Given the description of an element on the screen output the (x, y) to click on. 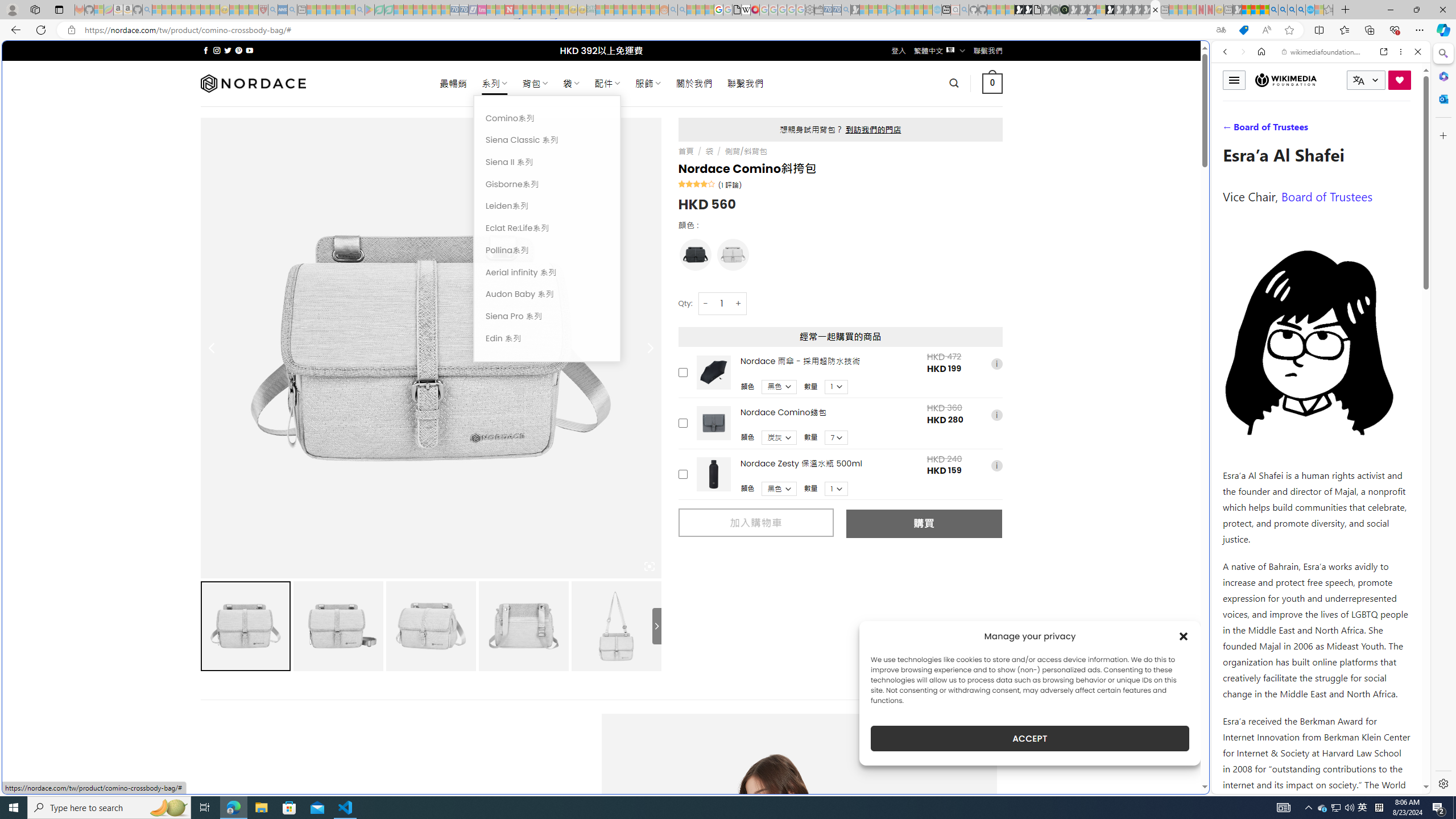
Bing Real Estate - Home sales and rental listings - Sleeping (846, 9)
Play Zoo Boom in your browser | Games from Microsoft Start (1027, 9)
Bing AI - Search (1272, 9)
Home | Sky Blue Bikes - Sky Blue Bikes - Sleeping (936, 9)
Terms of Use Agreement - Sleeping (378, 9)
Follow on Pinterest (237, 50)
Follow on Facebook (205, 50)
+ (738, 303)
